Given the description of an element on the screen output the (x, y) to click on. 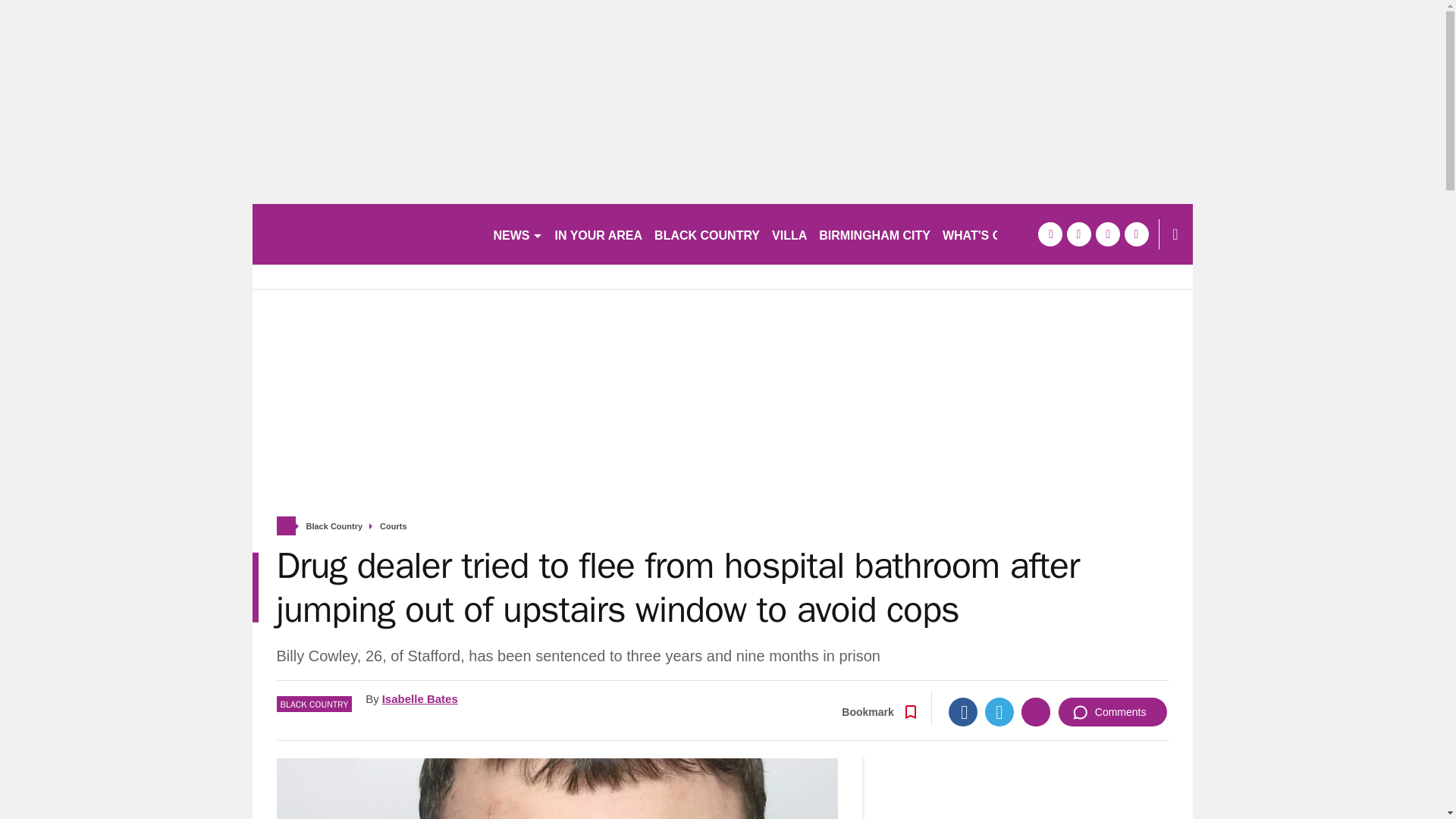
Comments (1112, 711)
WHAT'S ON (982, 233)
twitter (1077, 233)
instagram (1136, 233)
Facebook (962, 711)
birminghammail (365, 233)
BLACK COUNTRY (706, 233)
IN YOUR AREA (598, 233)
NEWS (517, 233)
facebook (1048, 233)
tiktok (1106, 233)
Twitter (999, 711)
BIRMINGHAM CITY (874, 233)
